Given the description of an element on the screen output the (x, y) to click on. 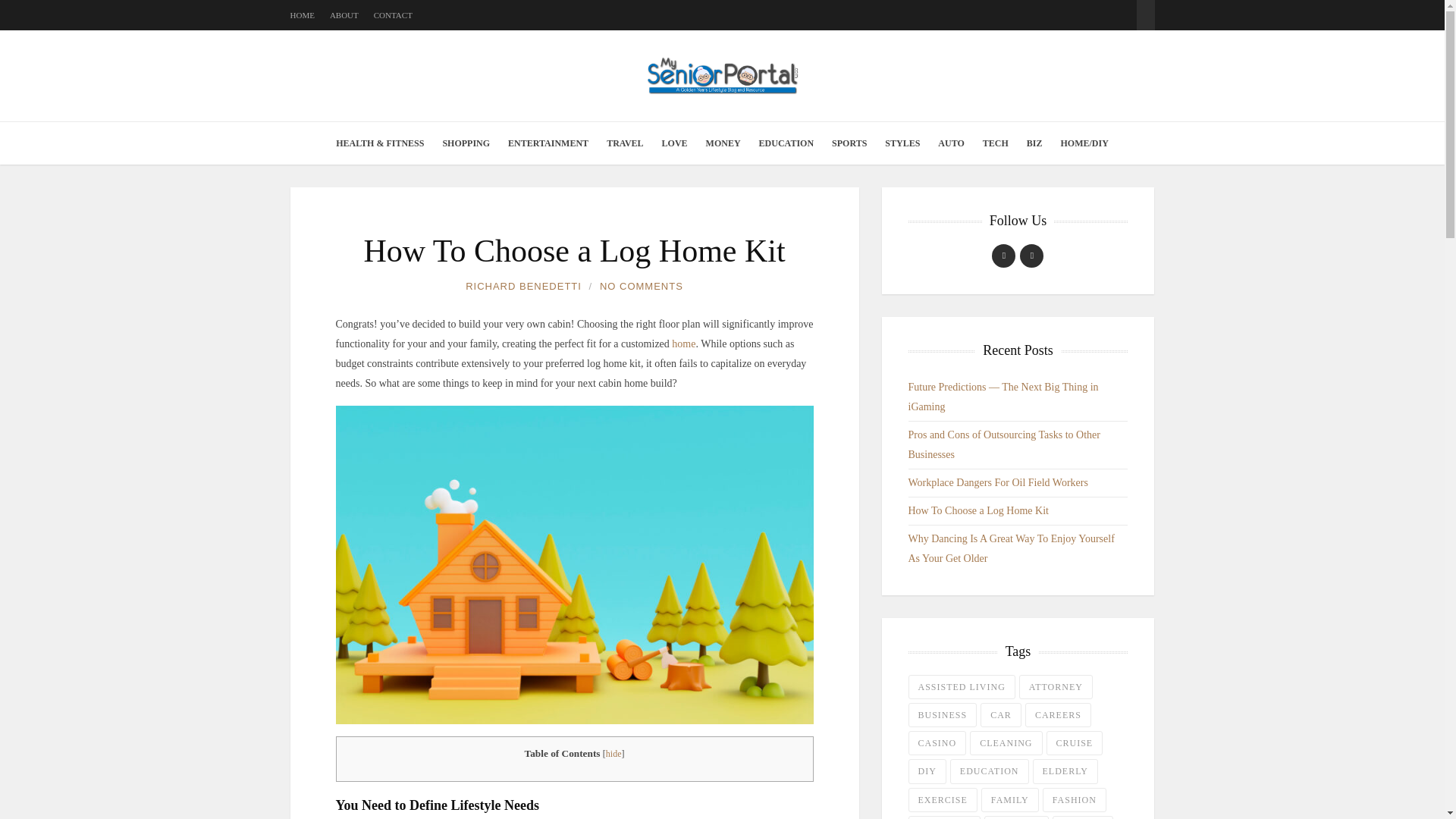
Posts by Richard Benedetti (522, 287)
NO COMMENTS (640, 287)
ABOUT (344, 15)
MONEY (723, 143)
EDUCATION (785, 143)
ENTERTAINMENT (547, 143)
LOVE (674, 143)
AUTO (950, 143)
Search (1144, 7)
SPORTS (849, 143)
hide (613, 753)
TRAVEL (624, 143)
STYLES (902, 143)
home (683, 343)
TECH (995, 143)
